Given the description of an element on the screen output the (x, y) to click on. 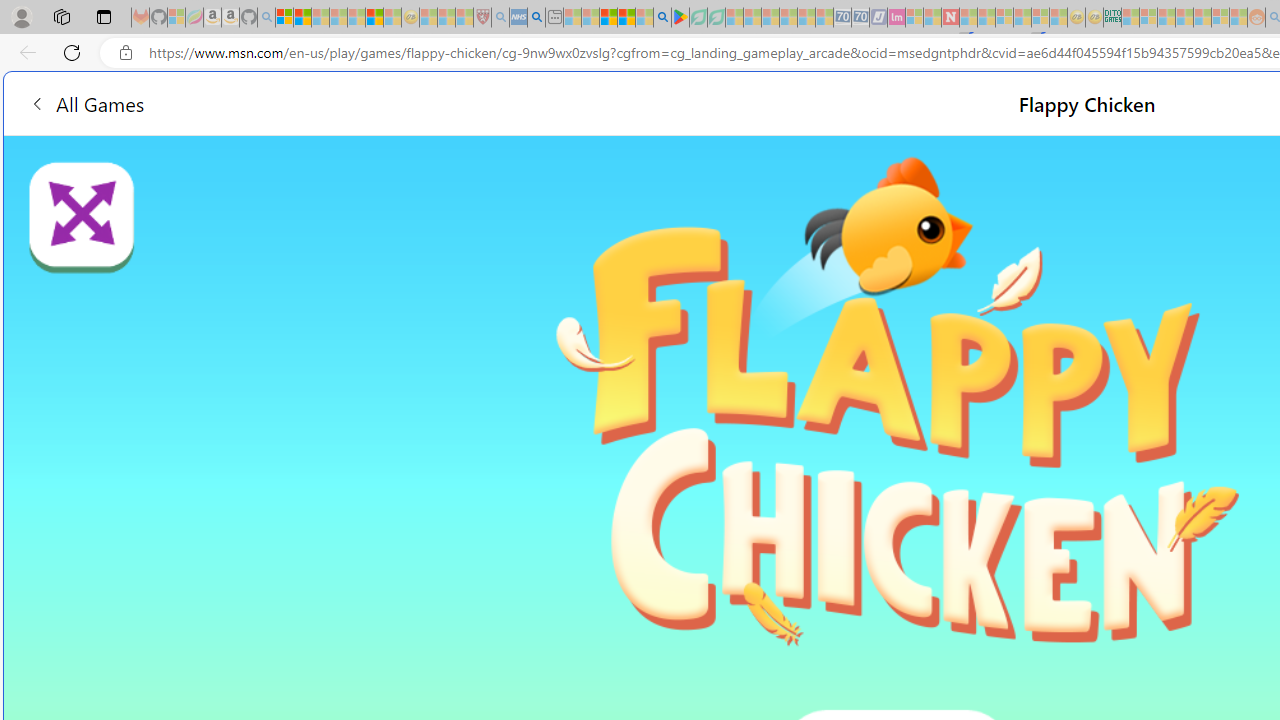
Bluey: Let's Play! - Apps on Google Play (680, 17)
